Given the description of an element on the screen output the (x, y) to click on. 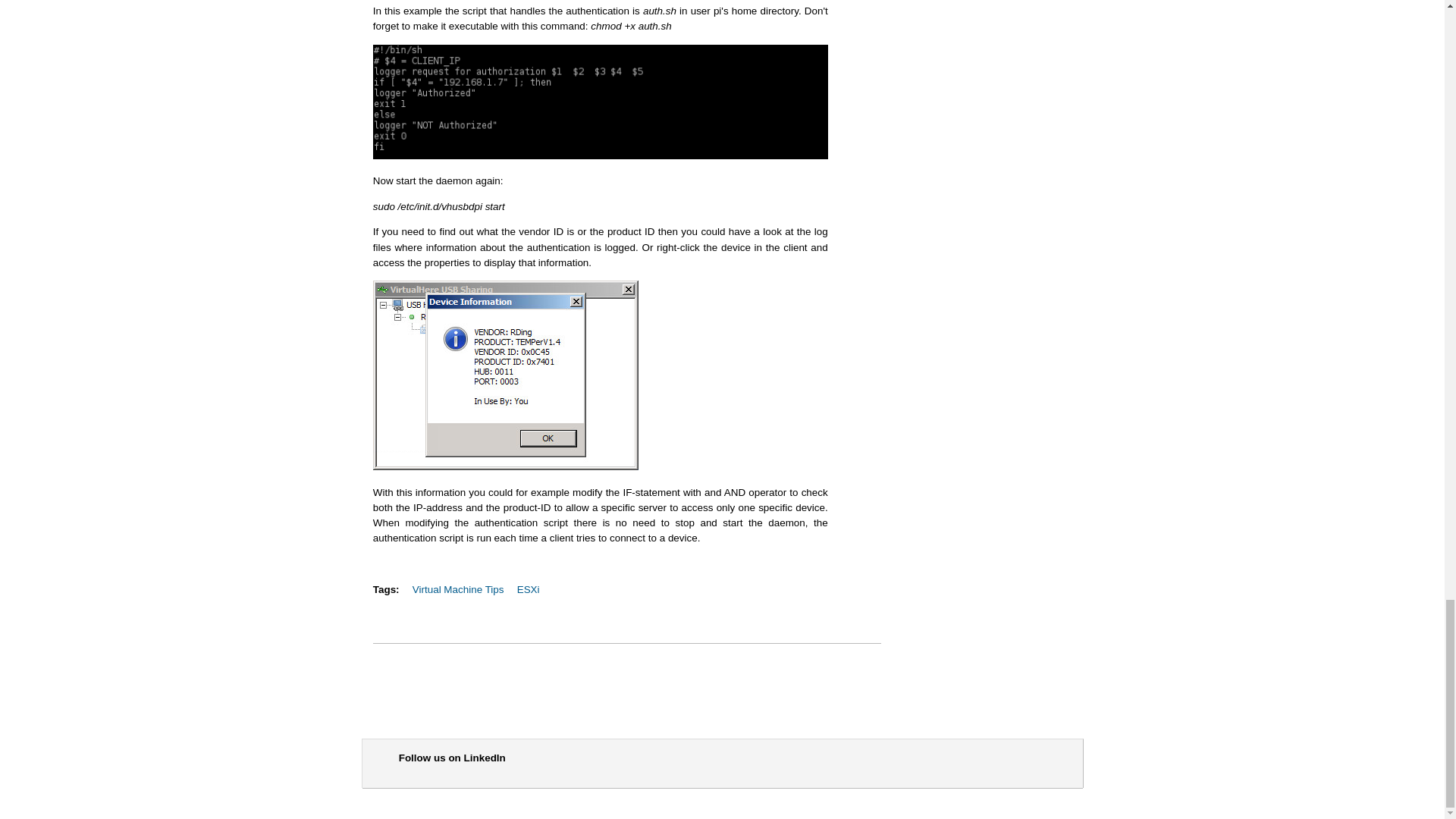
Virtual Machine Tips (457, 588)
ESXi (528, 588)
